Given the description of an element on the screen output the (x, y) to click on. 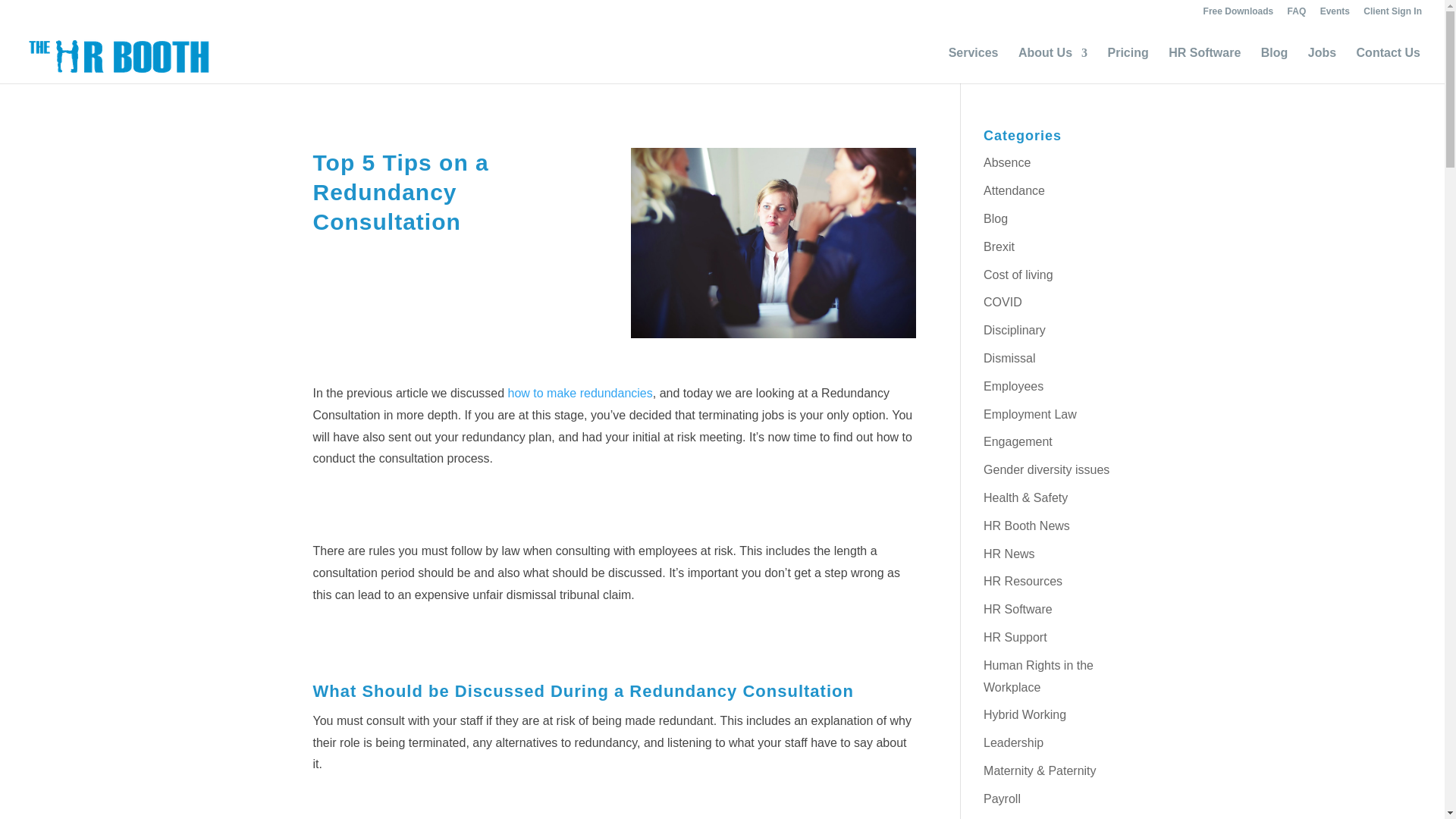
About Us (1052, 65)
Cost of living (1018, 274)
HR Resources (1023, 581)
Human Rights in the Workplace (1038, 676)
Disciplinary (1014, 329)
Pricing (1127, 65)
photo-1459499362902-55a20553e082 (772, 243)
Leadership (1013, 742)
HR News (1009, 553)
Engagement (1018, 440)
Services (973, 65)
Client Sign In (1392, 14)
Contact Us (1388, 65)
HR Software (1018, 608)
COVID (1003, 301)
